Given the description of an element on the screen output the (x, y) to click on. 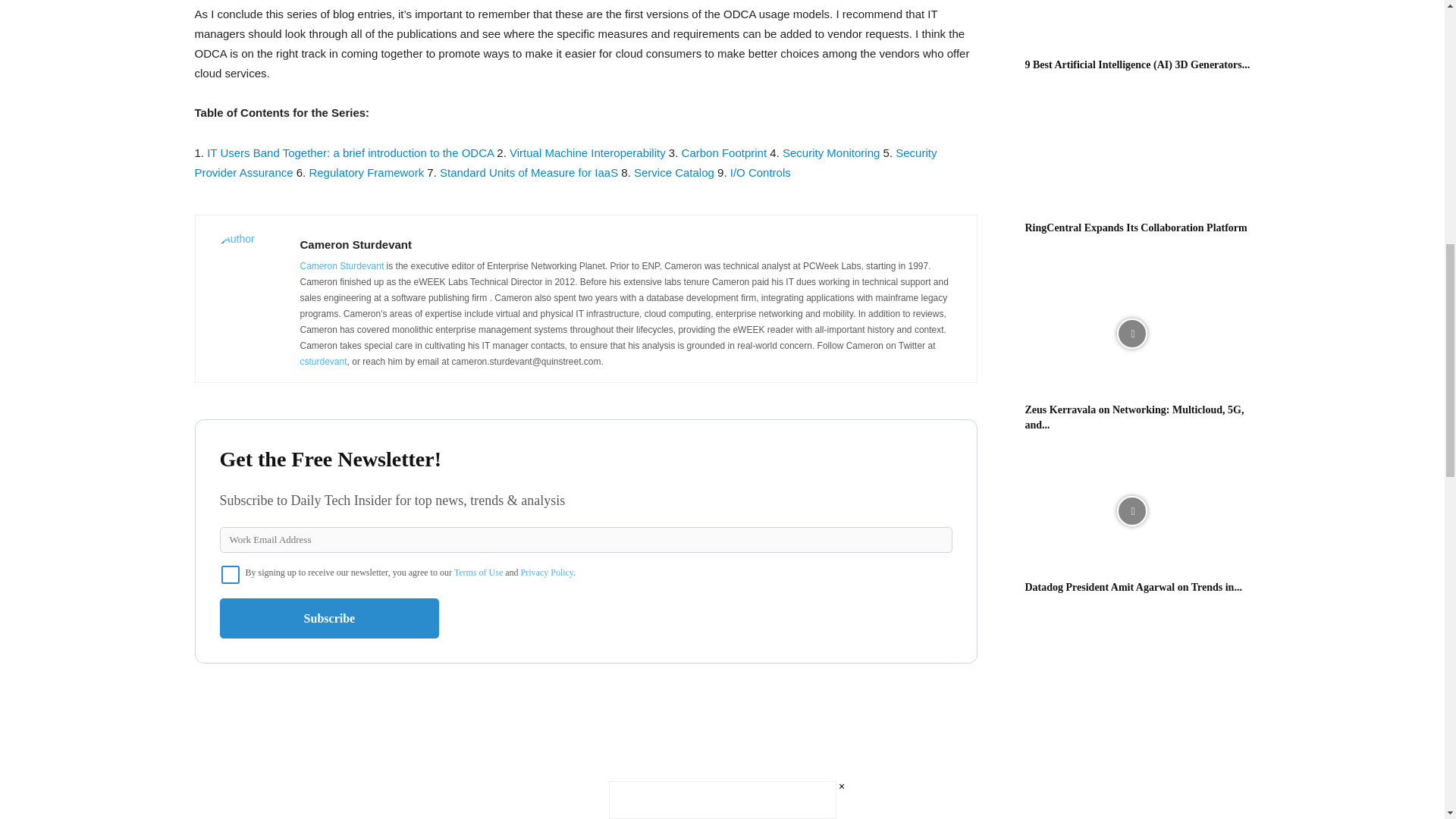
on (230, 574)
Zeus Kerravala on Networking: Multicloud, 5G, and Automation (1134, 417)
RingCentral Expands Its Collaboration Platform (1136, 227)
RingCentral Expands Its Collaboration Platform (1131, 151)
Zeus Kerravala on Networking: Multicloud, 5G, and Automation (1131, 333)
